Given the description of an element on the screen output the (x, y) to click on. 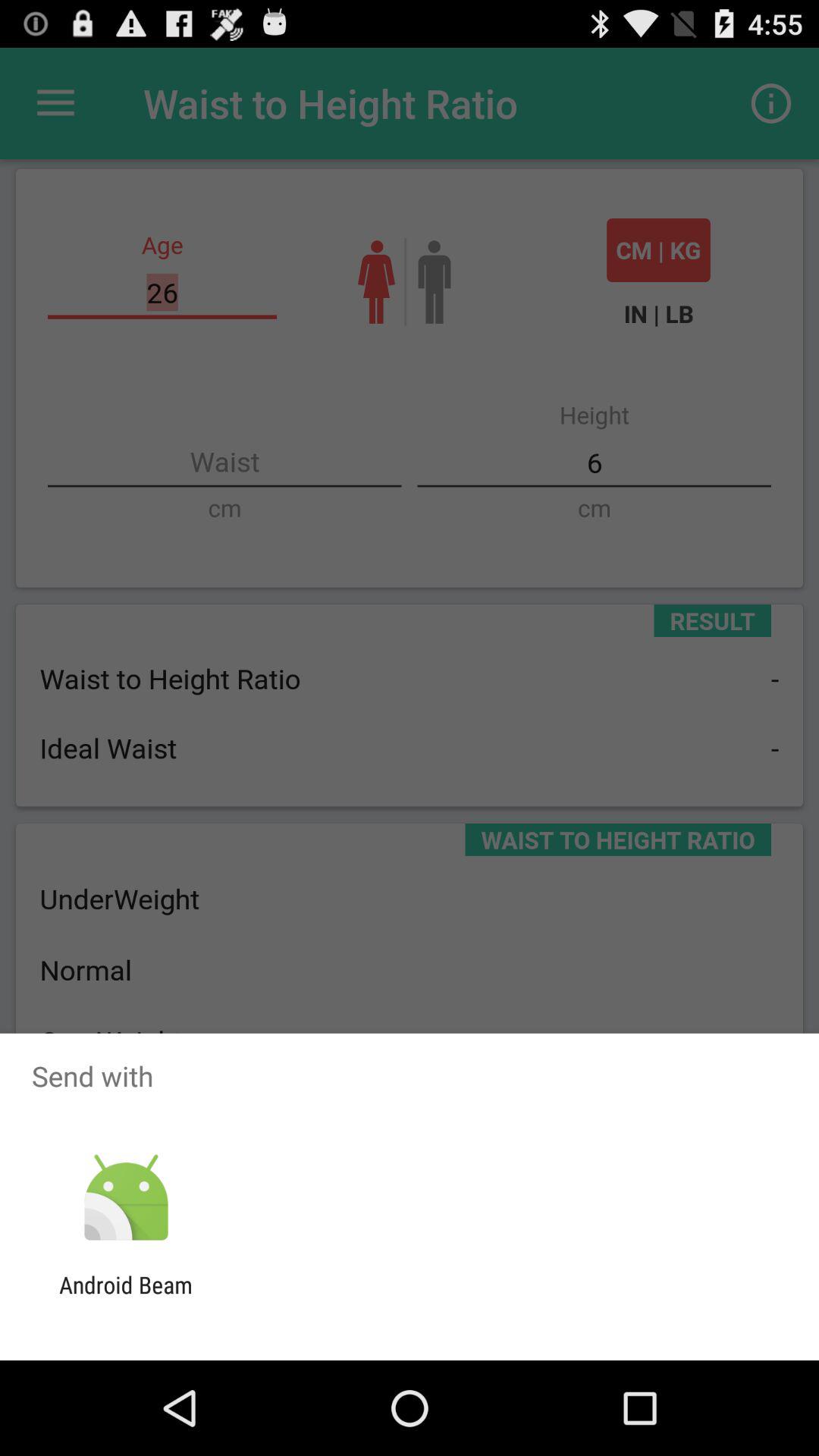
launch android beam app (125, 1298)
